Given the description of an element on the screen output the (x, y) to click on. 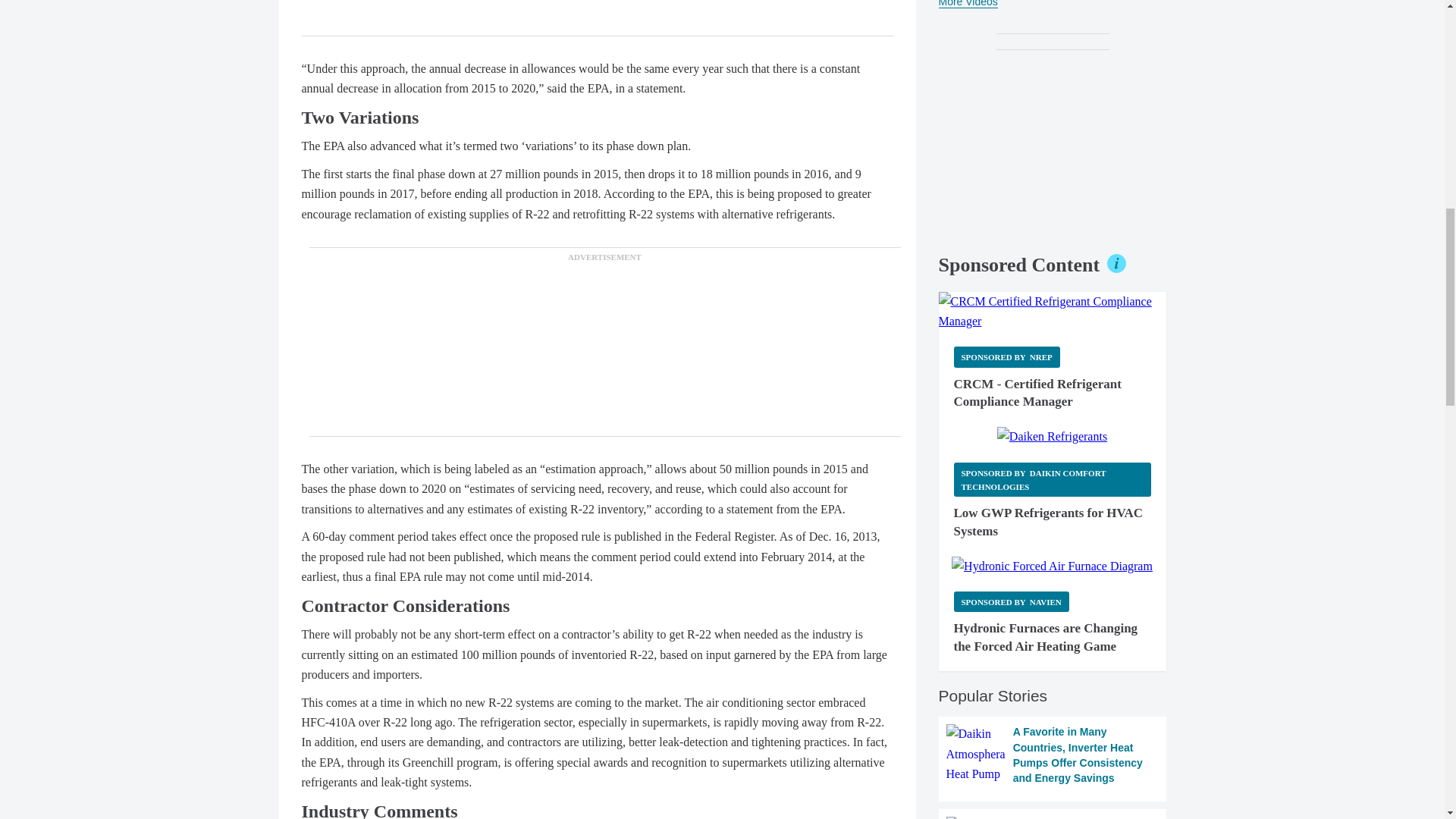
A2L Refrigerant Cylinders in Hot Trucks (1052, 817)
Daiken Refrigerants (1051, 436)
Hydronic Forced Air Furnace Diagram (1052, 566)
CRCM Certified Refrigerant Compliance Manager (1052, 311)
Sponsored by Navien (1010, 601)
Sponsored by NREP (1006, 356)
Sponsored by Daikin Comfort Technologies (1052, 479)
